Given the description of an element on the screen output the (x, y) to click on. 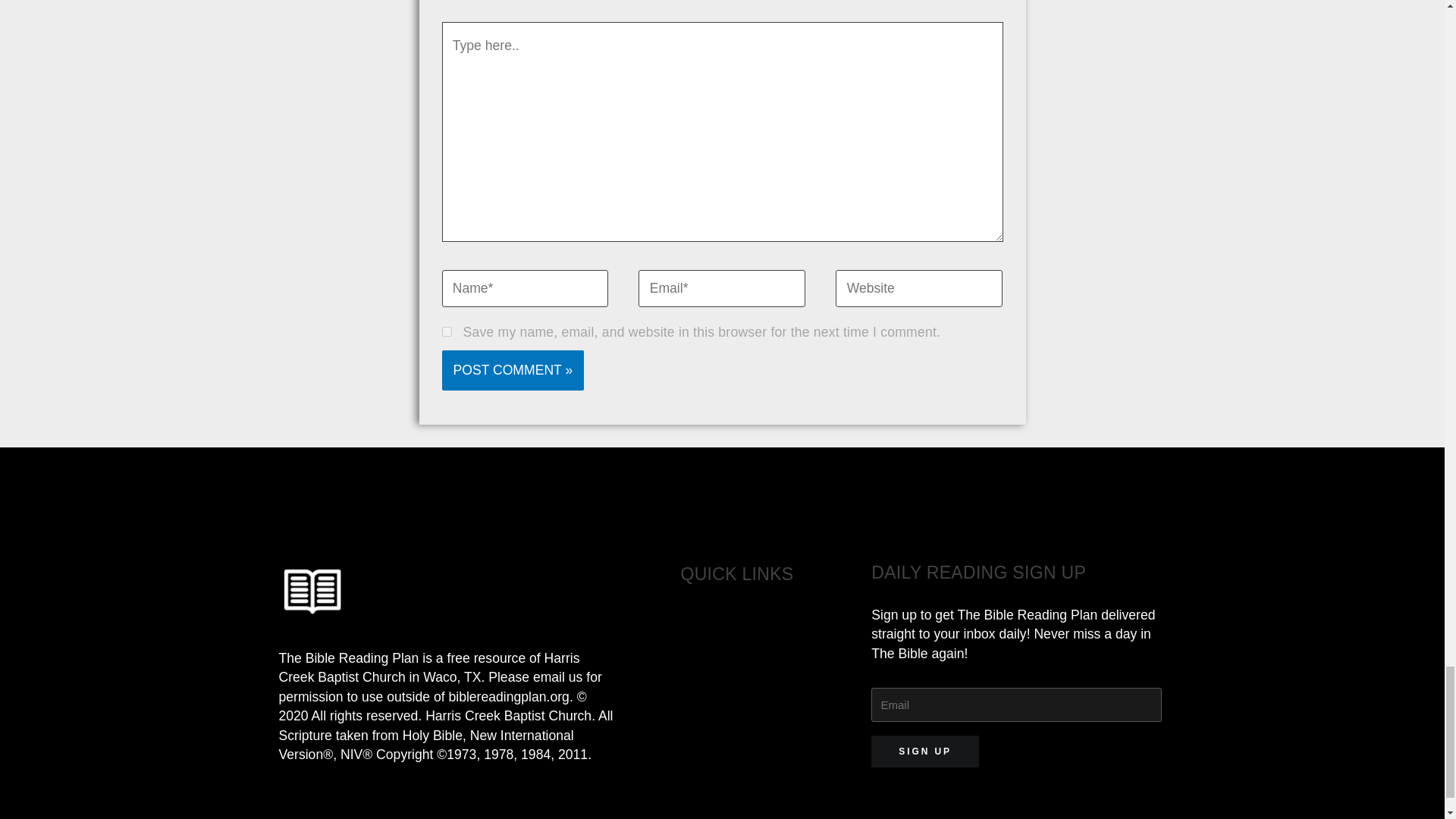
yes (446, 331)
biblereadingplan-brand-iconsmall (312, 592)
SIGN UP (924, 751)
